Given the description of an element on the screen output the (x, y) to click on. 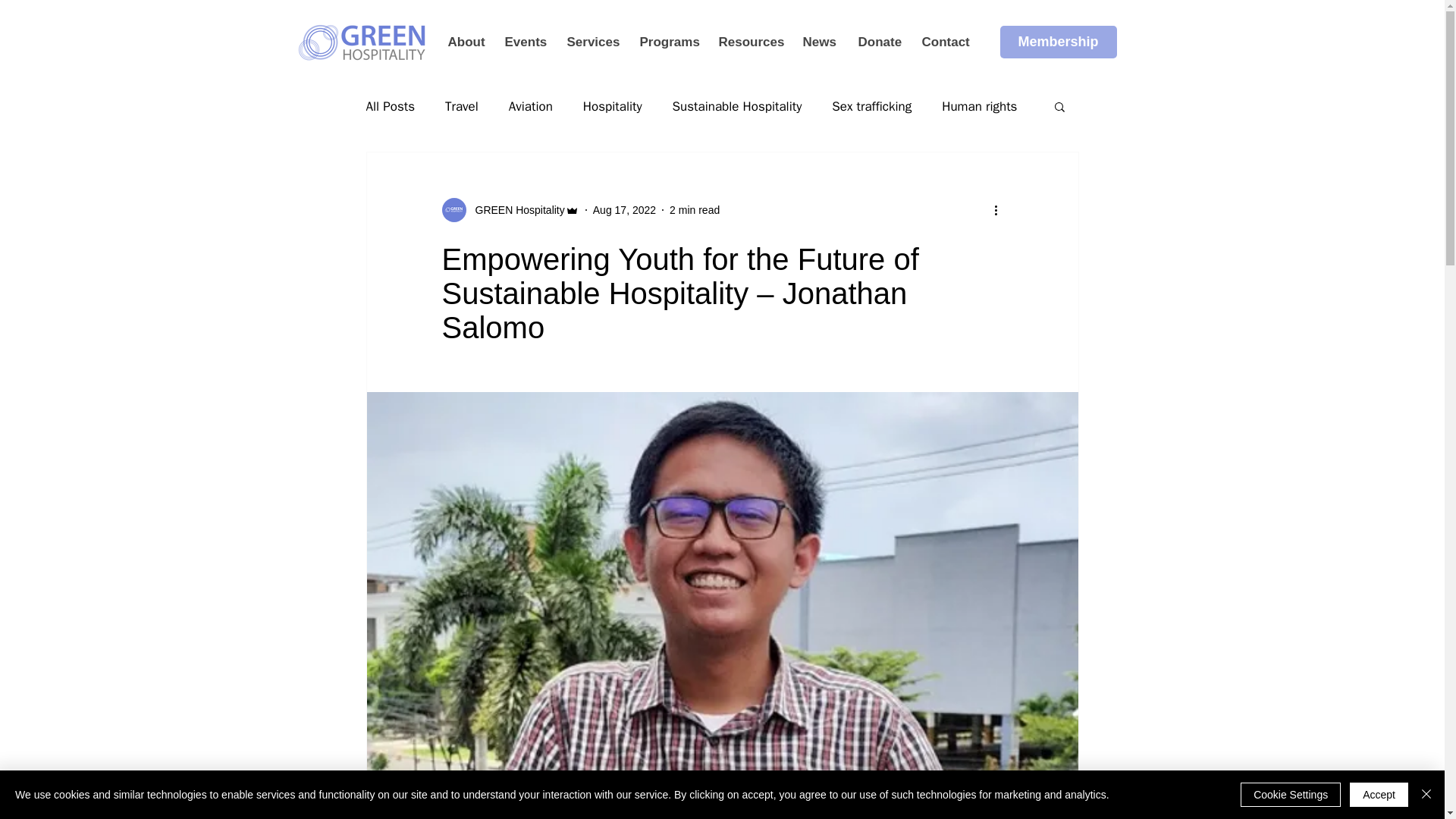
News (817, 42)
Aug 17, 2022 (624, 209)
2 min read (694, 209)
Programs (666, 42)
Donate (877, 42)
Resources (748, 42)
Events (523, 42)
About (464, 42)
GREEN Hospitality (514, 209)
Membership (1057, 41)
